Given the description of an element on the screen output the (x, y) to click on. 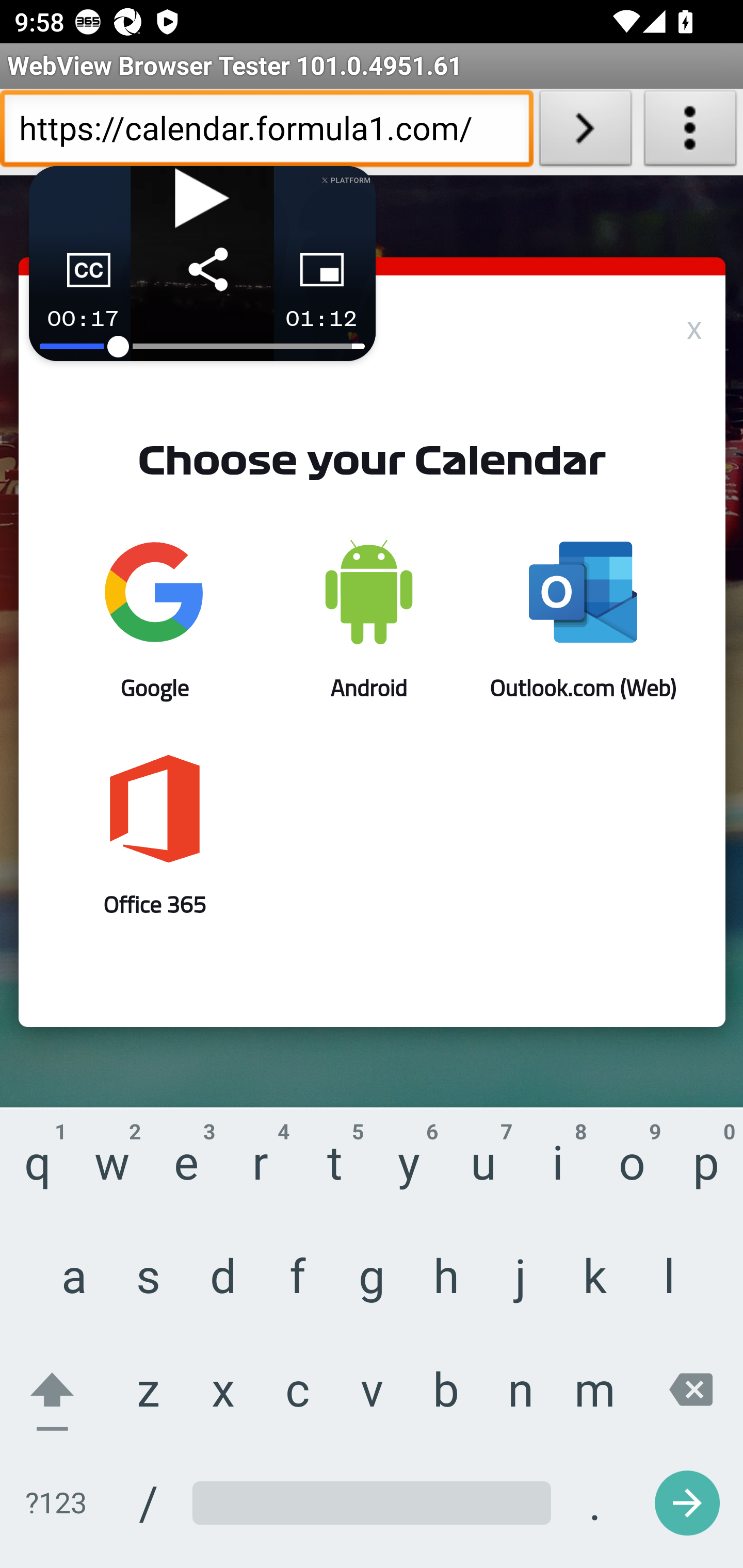
https://calendar.formula1.com/ (266, 132)
Load URL (585, 132)
About WebView (690, 132)
x (694, 326)
Google (154, 618)
Android (368, 618)
Outlook.com (Web) (582, 618)
office365 Office 365 (154, 835)
